Given the description of an element on the screen output the (x, y) to click on. 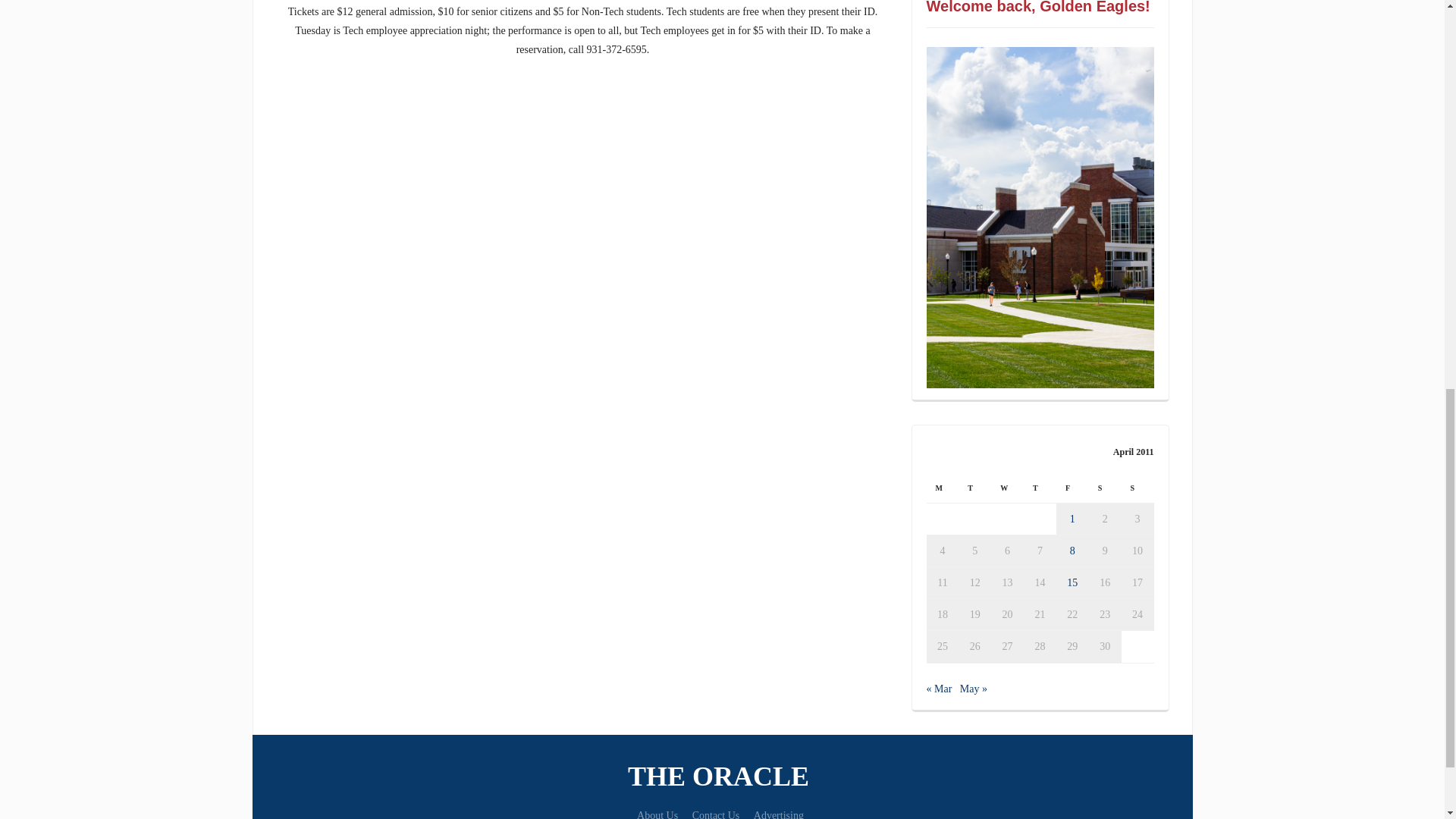
Thursday (1040, 487)
Monday (942, 487)
About Us (657, 814)
Contact Us (716, 814)
THE ORACLE (721, 776)
Advertising (778, 814)
Wednesday (1007, 487)
Tuesday (974, 487)
Friday (1073, 487)
Sunday (1137, 487)
15 (1072, 582)
Where Golden Eagles Fly For News (721, 776)
Saturday (1105, 487)
